Given the description of an element on the screen output the (x, y) to click on. 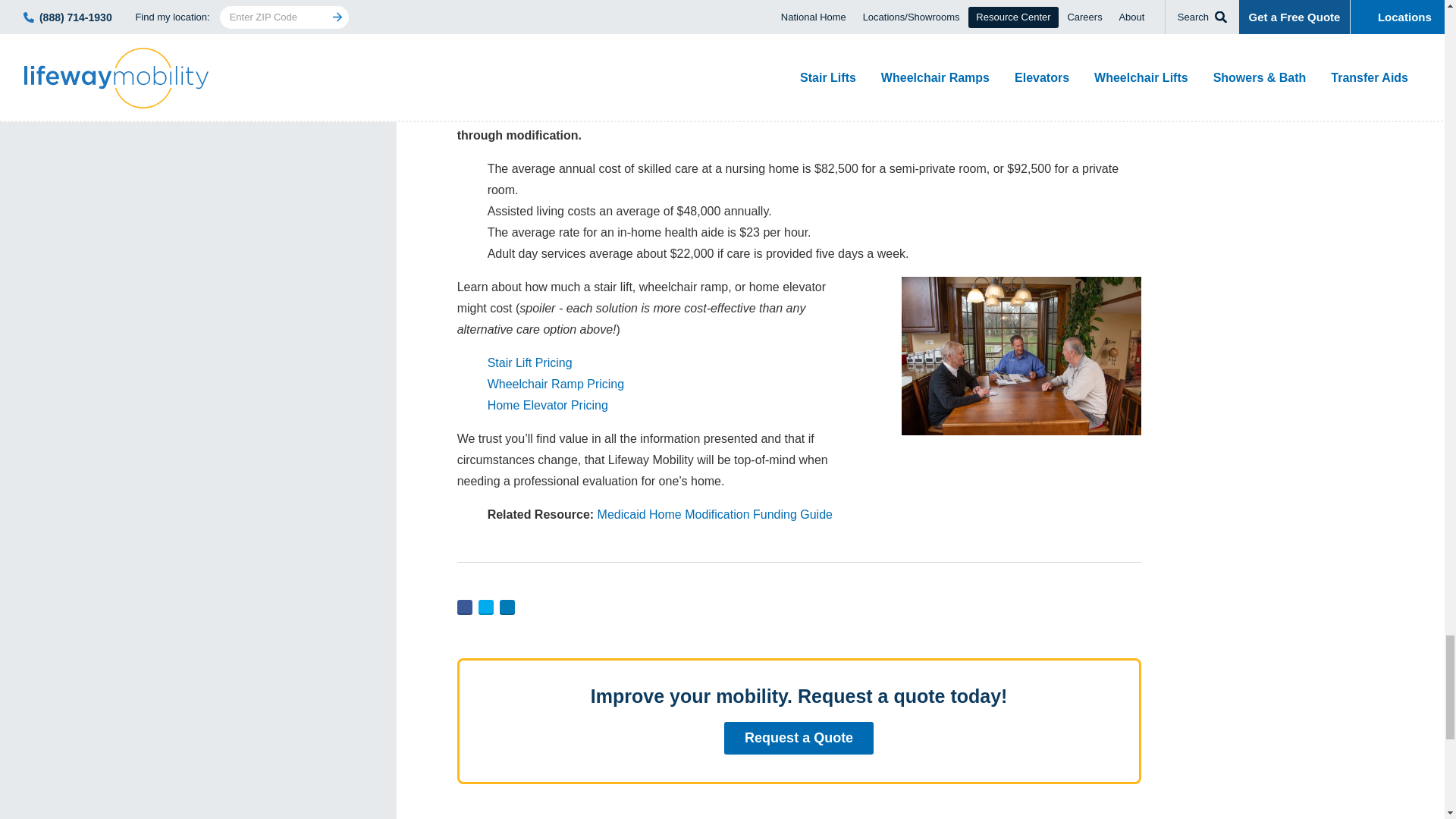
Share on Facebook (464, 607)
Share on LinkedIn (507, 607)
Share on Twitter (486, 607)
